Given the description of an element on the screen output the (x, y) to click on. 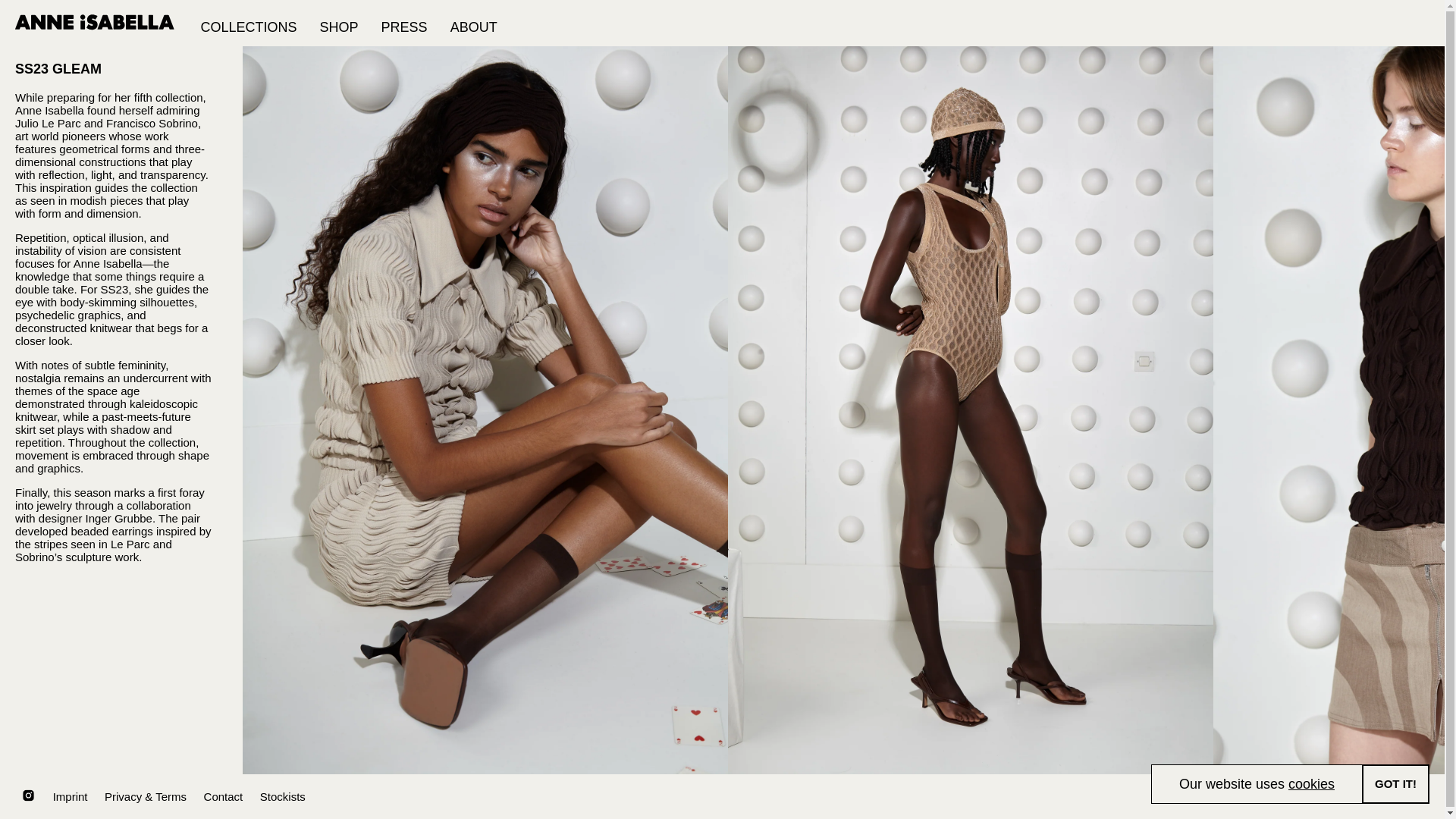
cookies (1311, 783)
Stockists (282, 796)
ABOUT (473, 22)
Contact (223, 796)
COLLECTIONS (248, 22)
PRESS (404, 22)
SHOP (338, 22)
Imprint (69, 796)
